Given the description of an element on the screen output the (x, y) to click on. 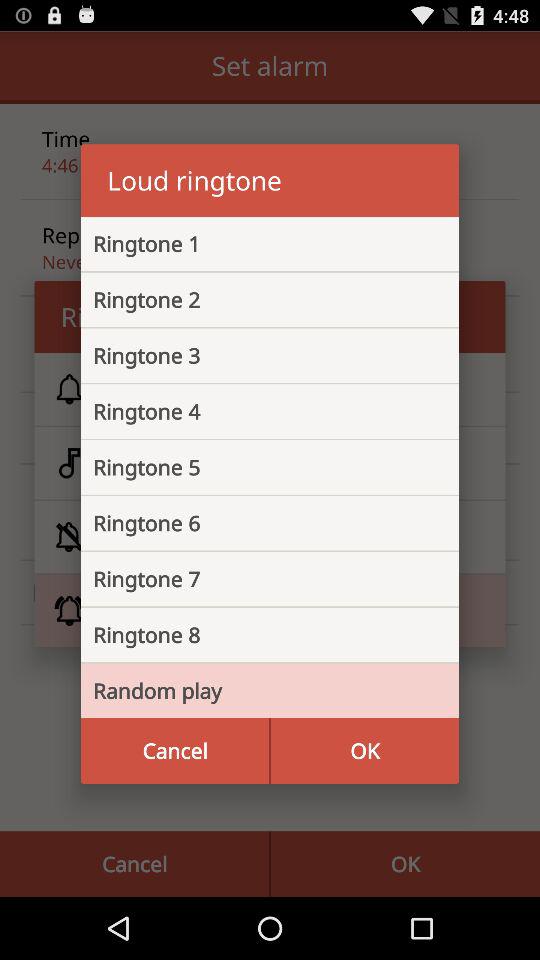
launch the icon below random play icon (175, 750)
